Given the description of an element on the screen output the (x, y) to click on. 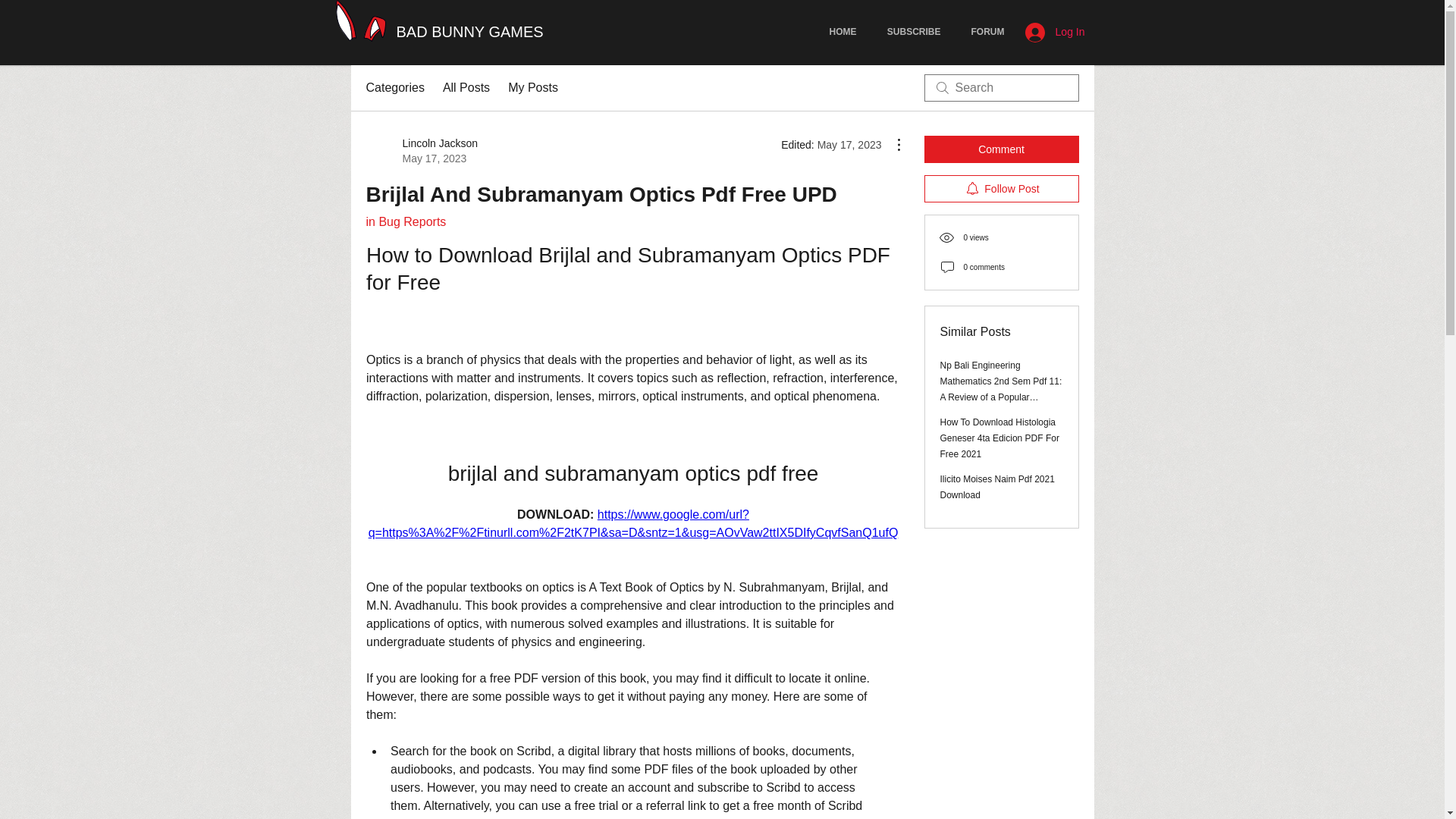
Comment (1000, 148)
Log In (1055, 32)
BAD BUNNY GAMES (469, 31)
in Bug Reports (405, 221)
FORUM (987, 31)
HOME (842, 31)
All Posts (465, 87)
SUBSCRIBE (914, 31)
My Posts (532, 87)
Follow Post (1000, 188)
Categories (394, 87)
Ilicito Moises Naim Pdf 2021 Download (421, 150)
